Given the description of an element on the screen output the (x, y) to click on. 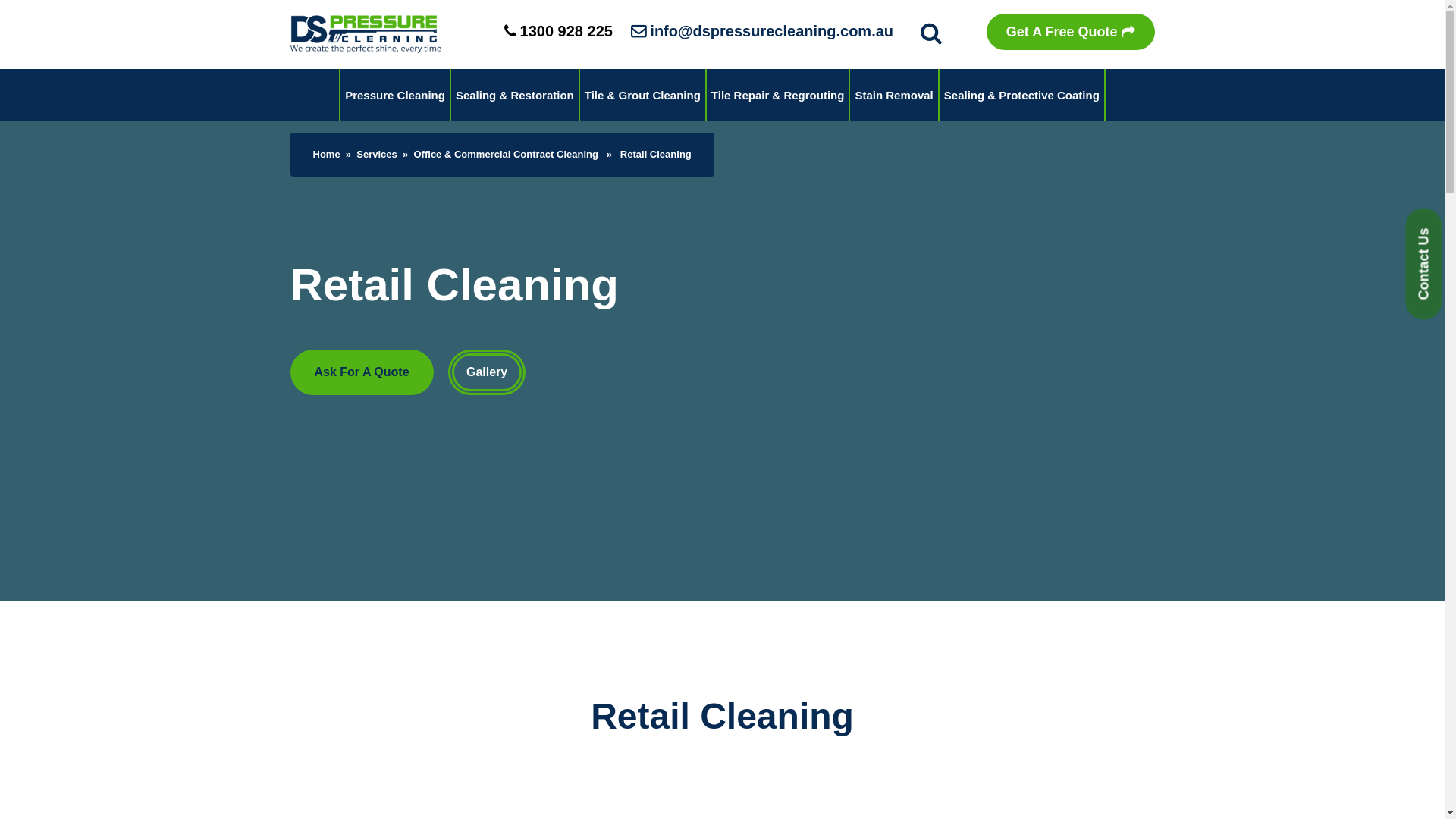
Stain Removal Element type: text (893, 95)
Tile Repair & Regrouting Element type: text (777, 95)
Gallery Element type: text (486, 372)
1300 928 225 Element type: text (558, 30)
Get A Free Quote Element type: text (1070, 31)
Pressure Cleaning Element type: text (394, 95)
Sealing & Restoration Element type: text (514, 95)
Sealing & Protective Coating Element type: text (1021, 95)
info@dspressurecleaning.com.au Element type: text (761, 30)
Home Element type: text (325, 154)
Tile & Grout Cleaning Element type: text (642, 95)
Services Element type: text (376, 154)
Office & Commercial Contract Cleaning Element type: text (506, 154)
Ask For A Quote Element type: text (361, 372)
